Given the description of an element on the screen output the (x, y) to click on. 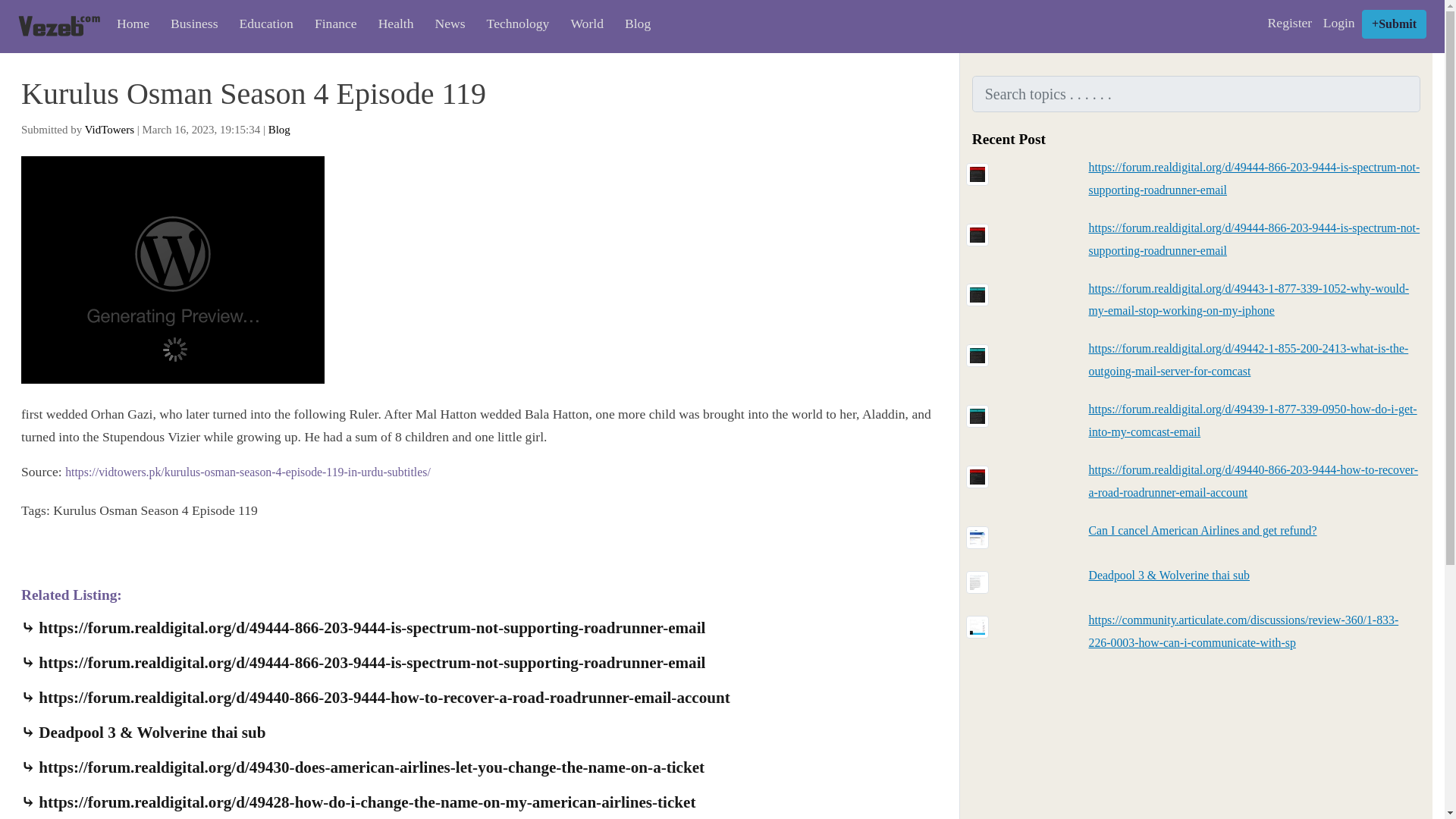
World (582, 23)
Finance (330, 23)
Business (189, 23)
Register (1289, 22)
Login (1338, 22)
Home (128, 23)
Blog (278, 129)
Blog (633, 23)
Technology (513, 23)
Education (261, 23)
